Given the description of an element on the screen output the (x, y) to click on. 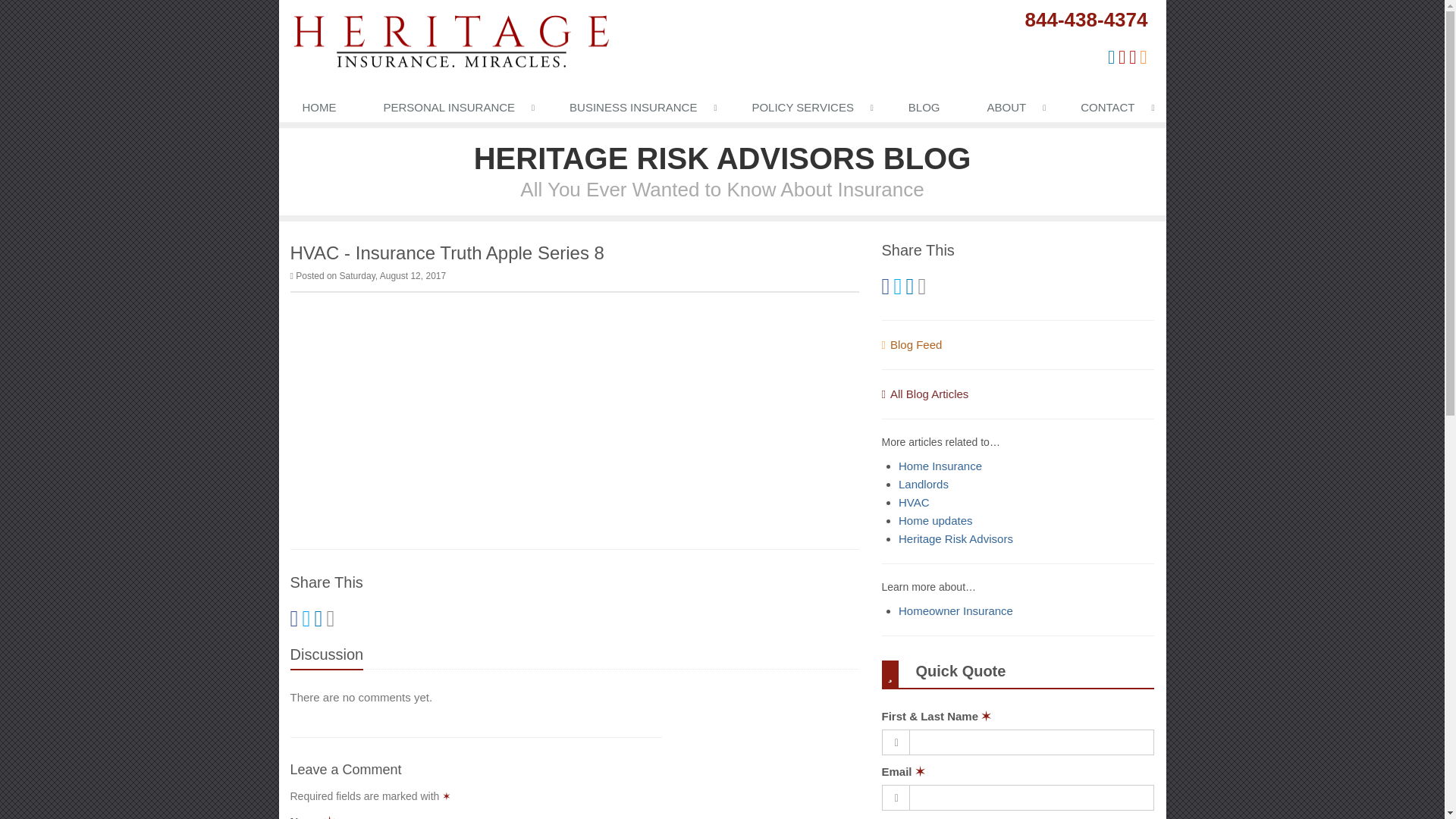
Required (329, 816)
BUSINESS INSURANCE (637, 110)
PERSONAL INSURANCE (452, 110)
POLICY SERVICES (805, 110)
HOME (319, 110)
